Given the description of an element on the screen output the (x, y) to click on. 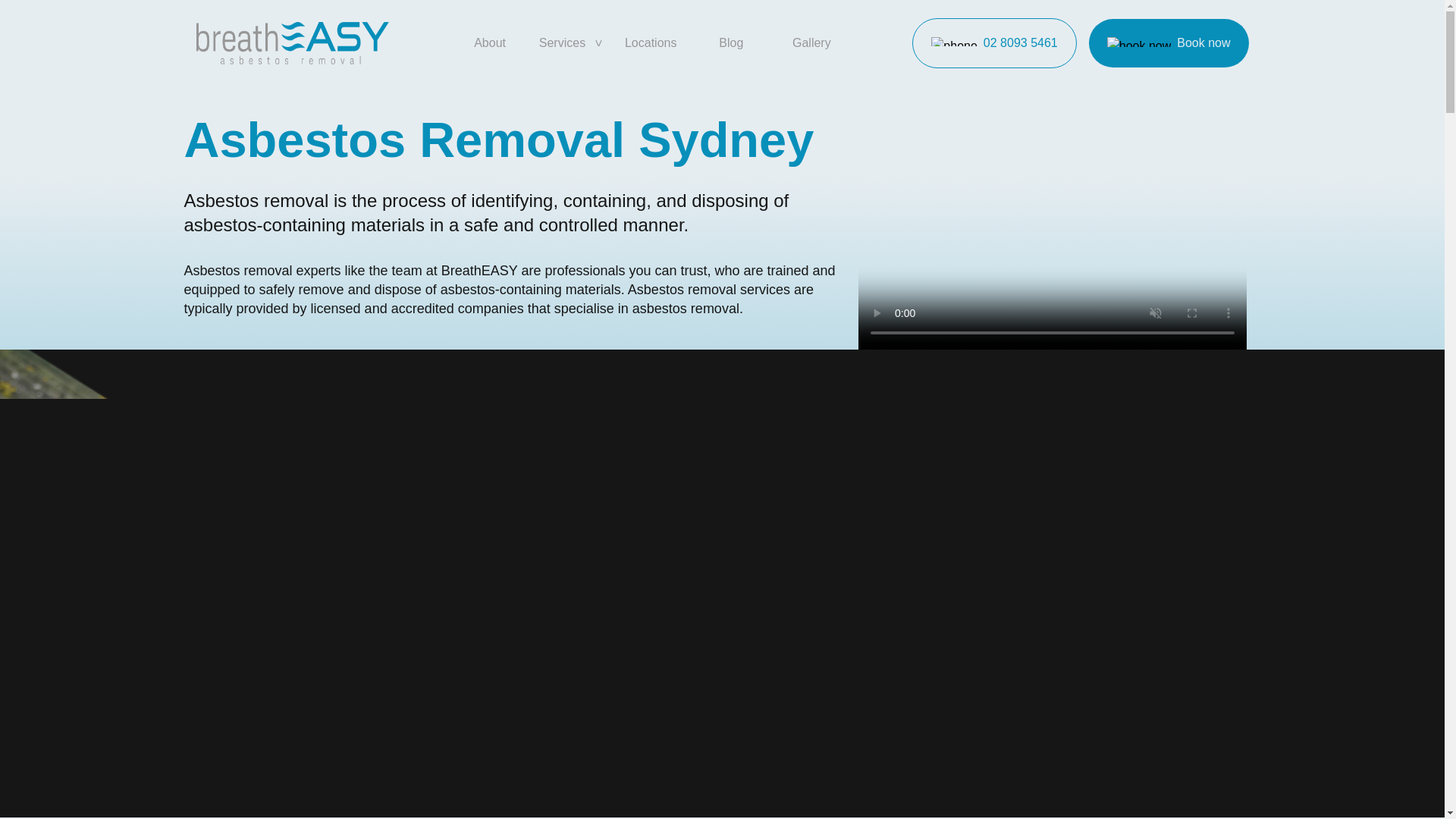
Gallery (811, 42)
Locations (650, 42)
Book now (1169, 42)
About (489, 42)
Services (570, 42)
02 8093 5461 (993, 42)
Blog (730, 42)
